Given the description of an element on the screen output the (x, y) to click on. 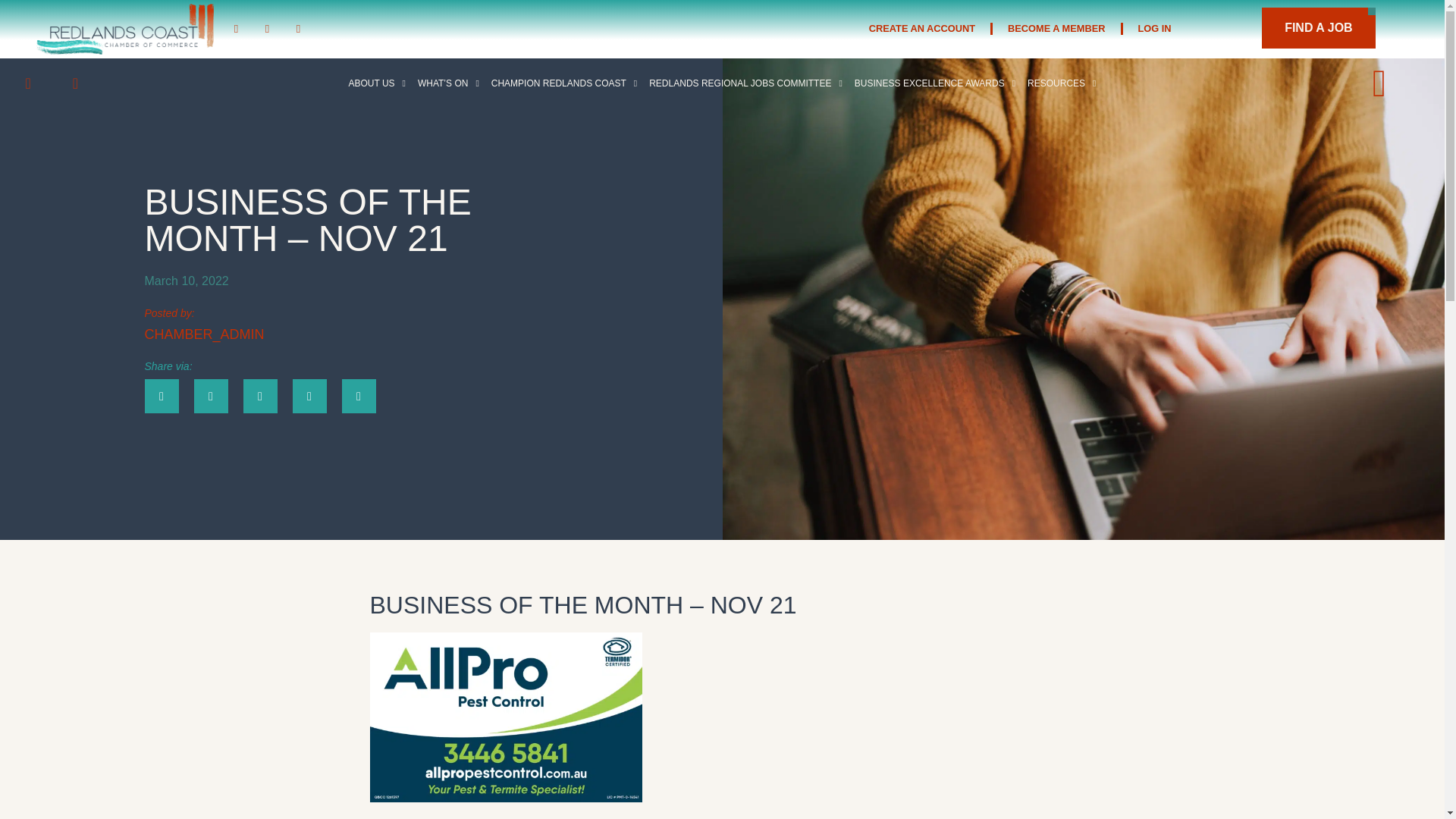
ABOUT US (377, 83)
LOG IN (1154, 4)
CREATE AN ACCOUNT (921, 2)
FIND A JOB (1318, 12)
BECOME A MEMBER (1055, 2)
